Given the description of an element on the screen output the (x, y) to click on. 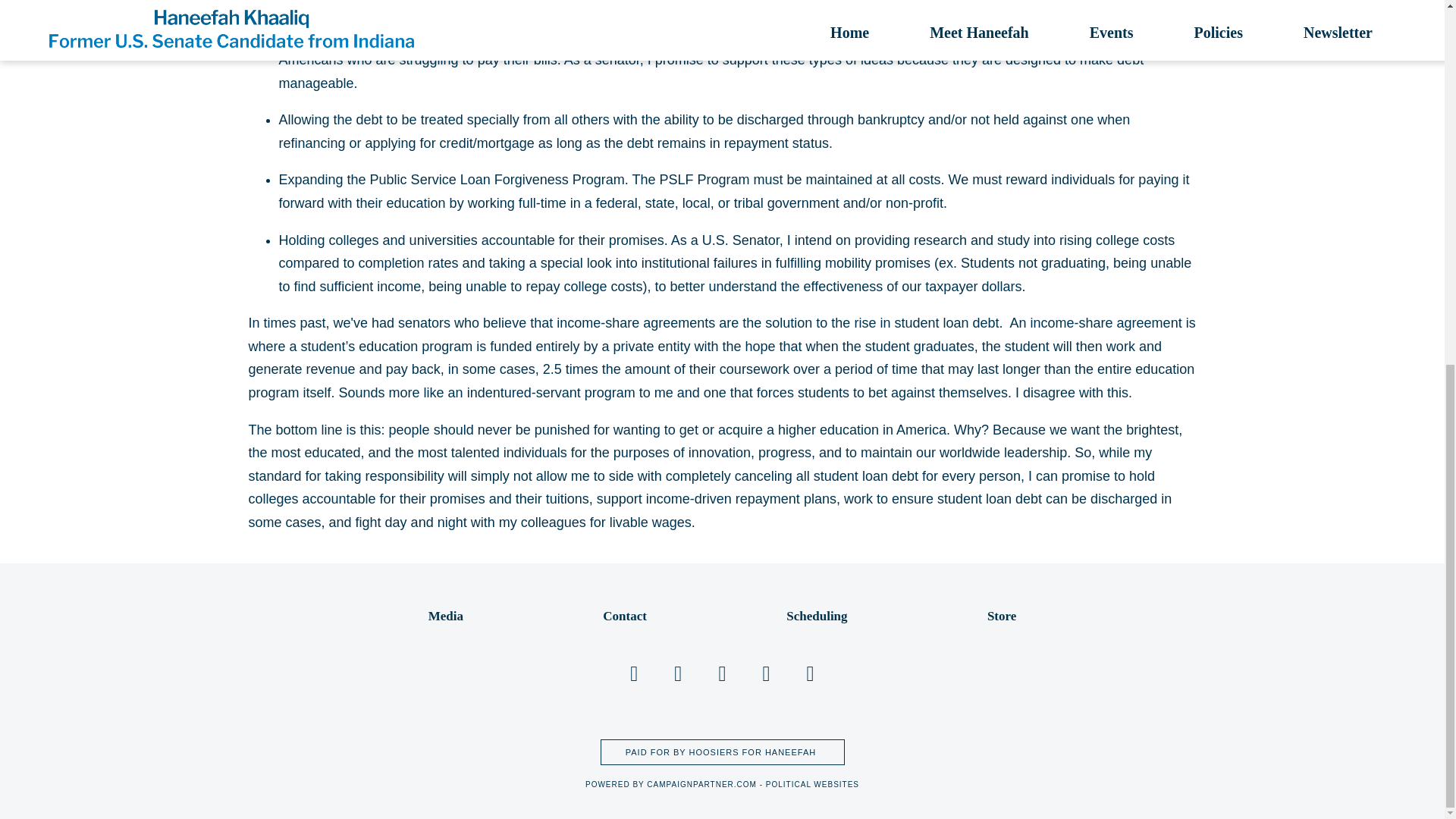
Contact (624, 616)
Scheduling (816, 616)
Media (445, 616)
POLITICAL WEBSITES (812, 784)
Store (1001, 616)
